Given the description of an element on the screen output the (x, y) to click on. 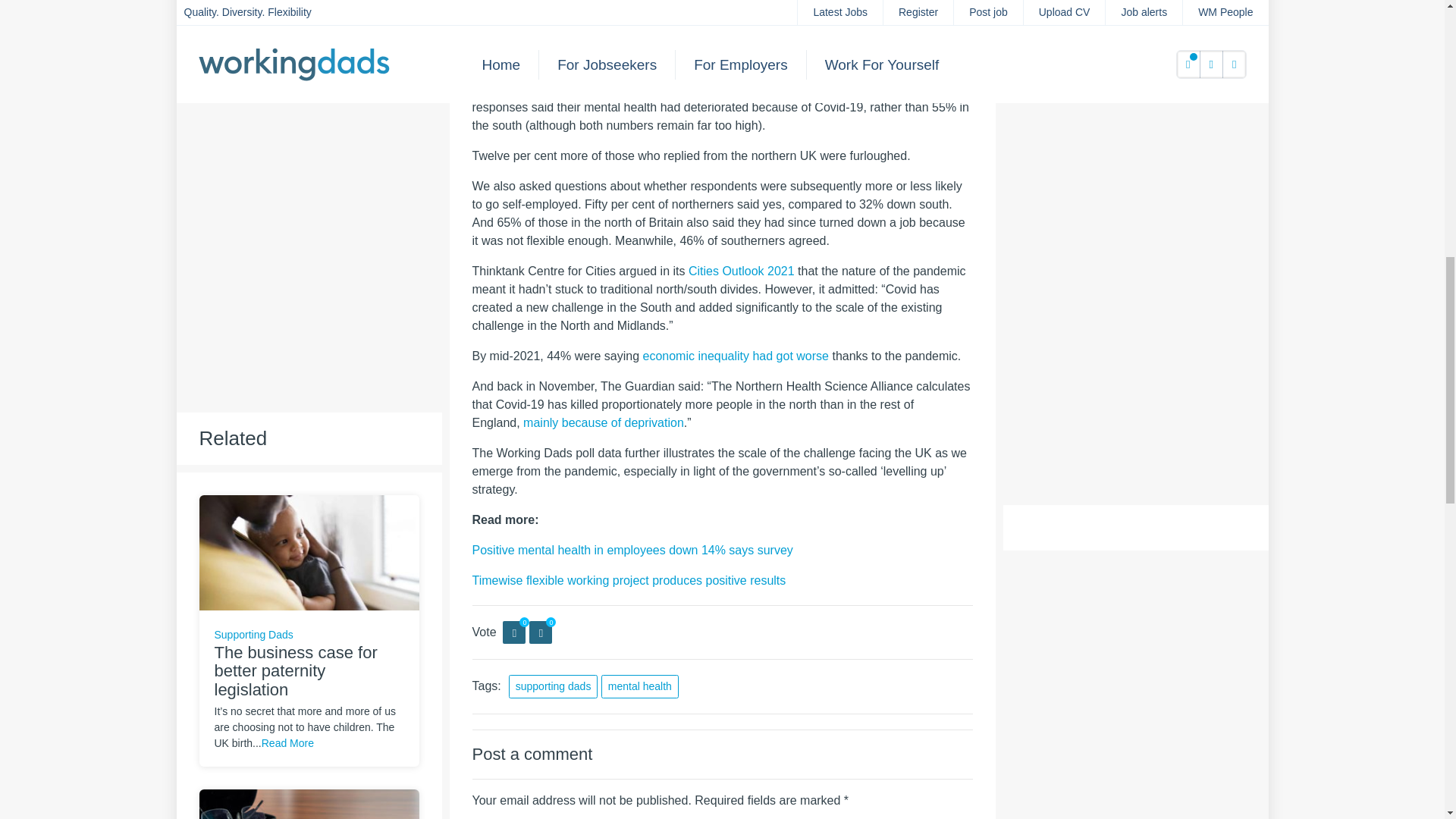
The business case for better paternity legislation (308, 551)
Cities Outlook 2021 (741, 270)
mainly because of deprivation (603, 422)
economic inequality had got worse (735, 355)
